Given the description of an element on the screen output the (x, y) to click on. 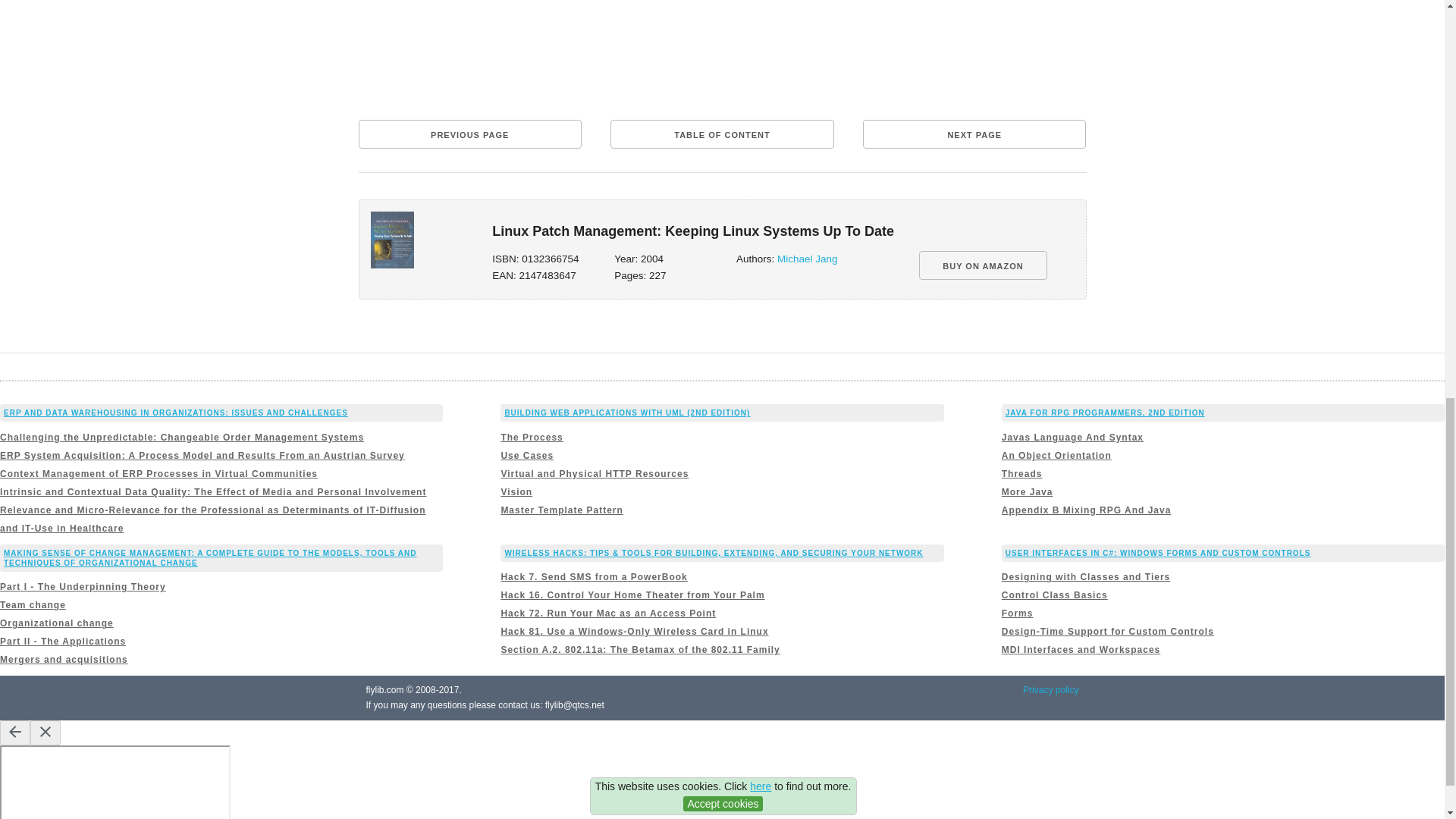
Appendix B Mixing RPG And Java (1086, 510)
Hack 81. Use a Windows-Only Wireless Card in Linux (634, 631)
JAVA FOR RPG PROGRAMMERS, 2ND EDITION (1105, 412)
Master Template Pattern (561, 510)
Part II - The Applications (62, 641)
NEXT PAGE (974, 133)
The Process (531, 437)
Vision (516, 491)
Organizational change (56, 623)
TABLE OF CONTENT (721, 133)
